Given the description of an element on the screen output the (x, y) to click on. 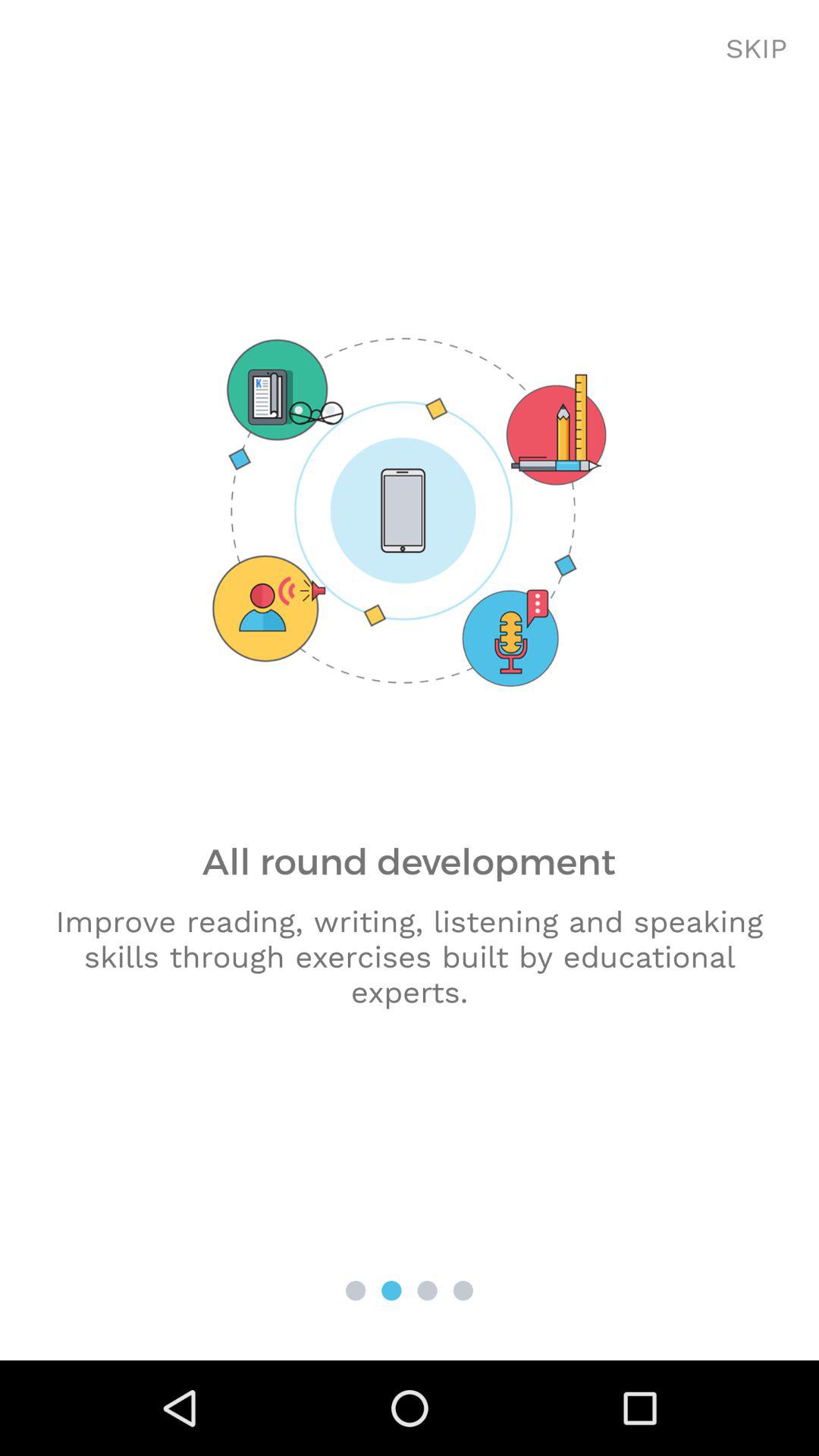
turn off skip (756, 49)
